Given the description of an element on the screen output the (x, y) to click on. 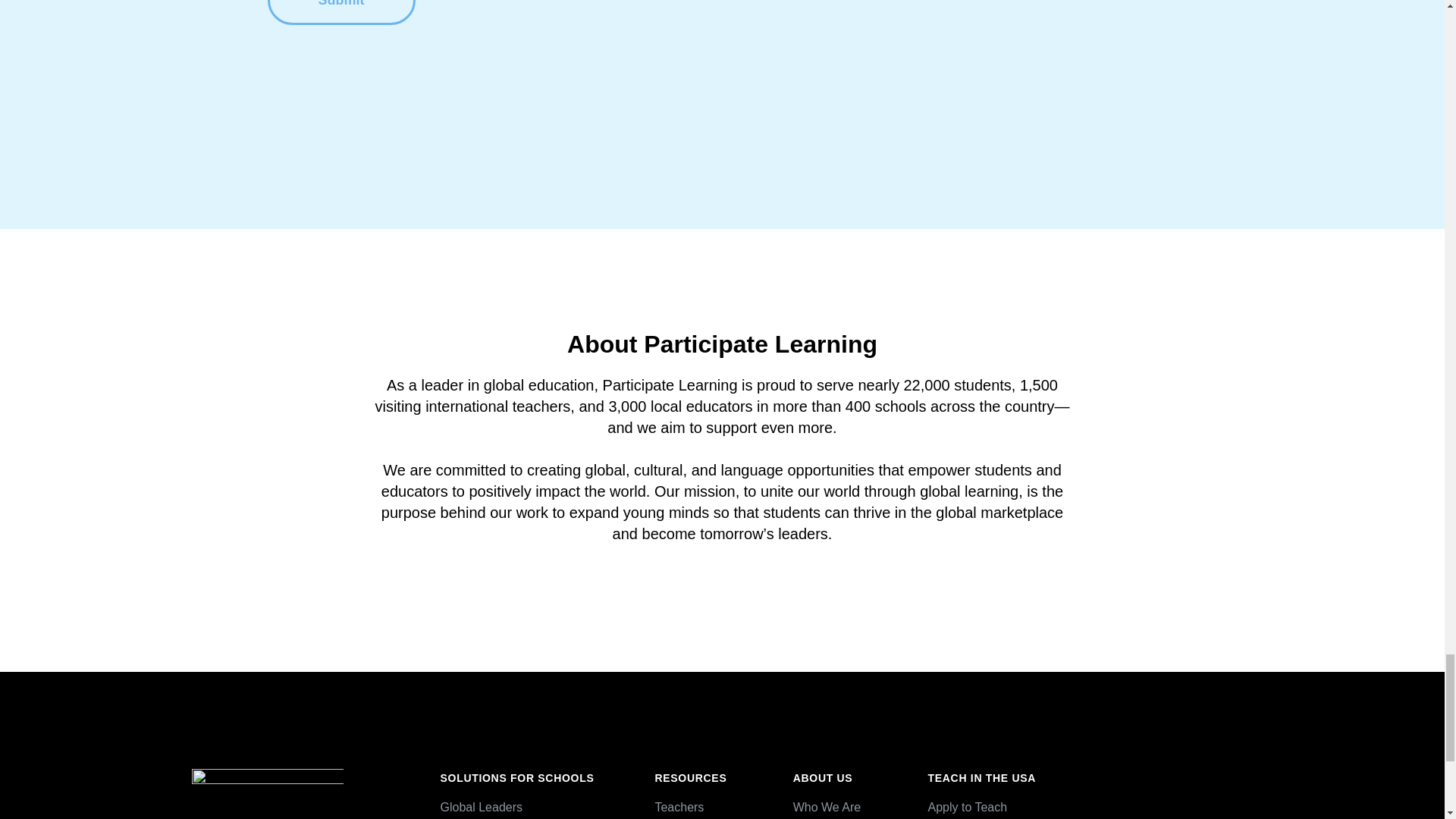
Submit (340, 12)
Submit (340, 12)
